Given the description of an element on the screen output the (x, y) to click on. 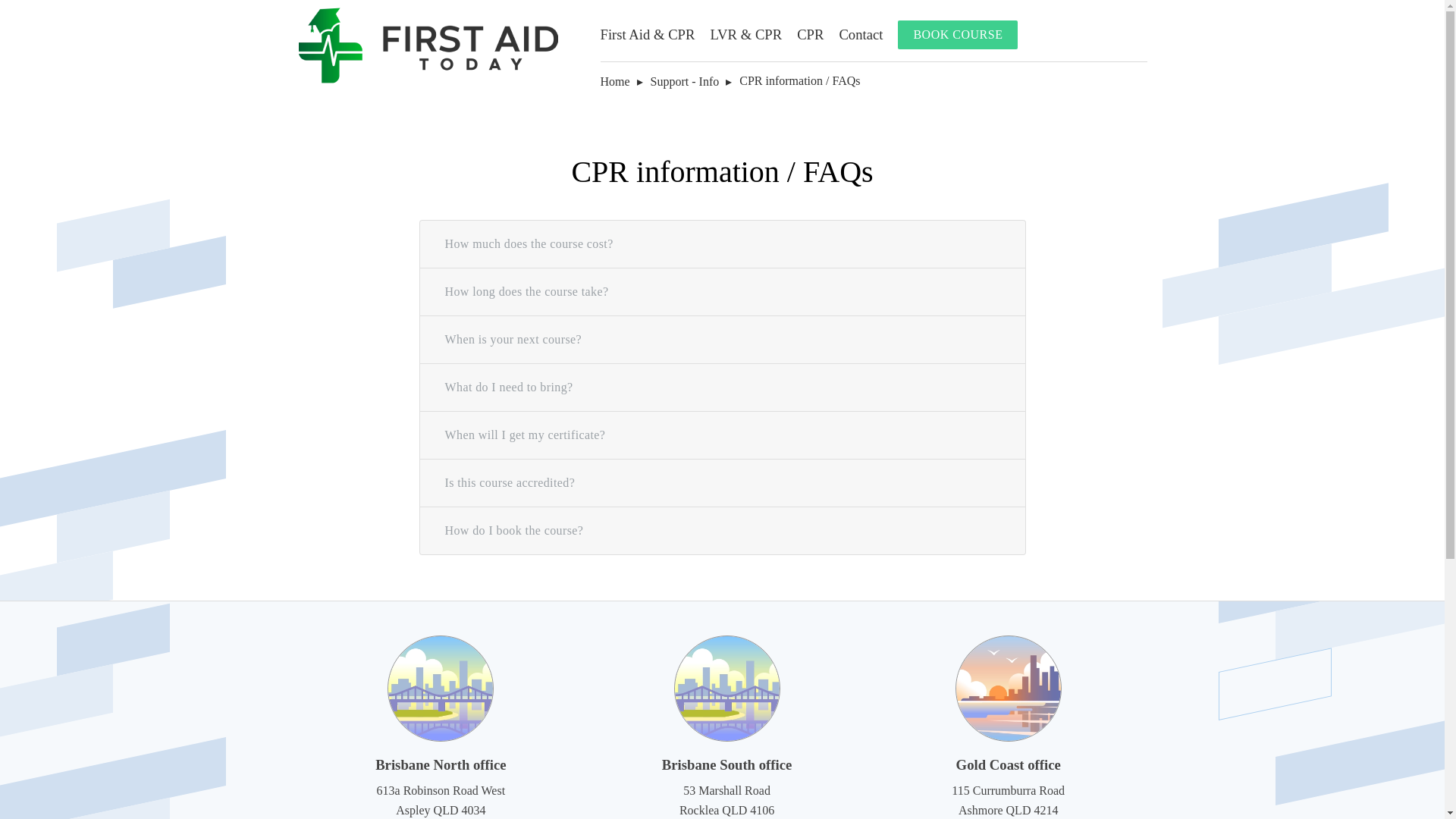
When will I get my certificate? (722, 434)
When is your next course? (722, 339)
Home (614, 81)
How do I book the course? (722, 530)
How long does the course take? (722, 291)
BOOK COURSE (957, 34)
Is this course accredited? (722, 482)
How much does the course cost? (722, 244)
What do I need to bring? (722, 387)
Contact (860, 34)
